Given the description of an element on the screen output the (x, y) to click on. 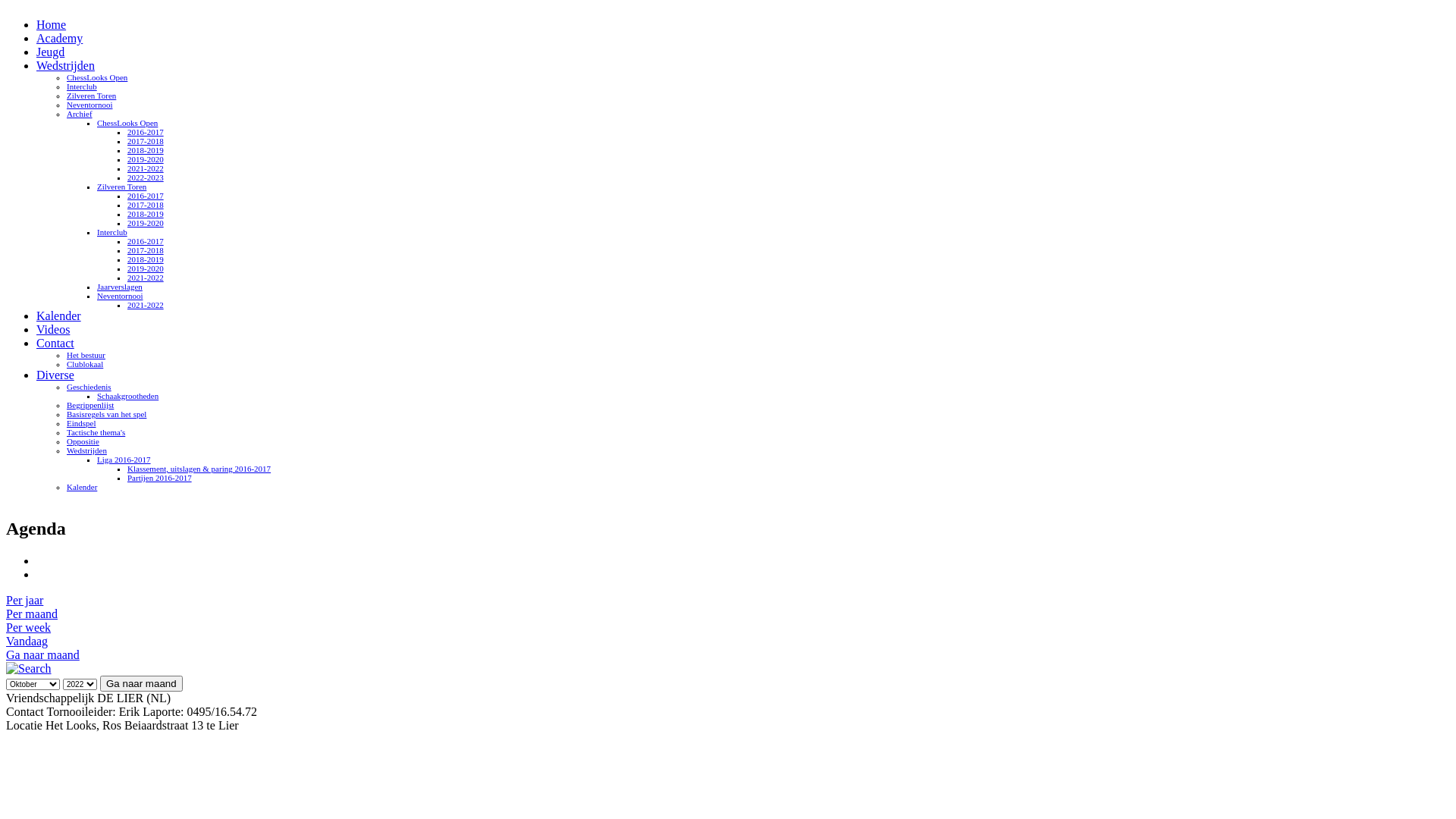
2018-2019 Element type: text (145, 213)
Partijen 2016-2017 Element type: text (159, 477)
2021-2022 Element type: text (145, 304)
Begrippenlijst Element type: text (89, 404)
Jaarverslagen Element type: text (119, 286)
Neventornooi Element type: text (119, 295)
2018-2019 Element type: text (145, 149)
Clublokaal Element type: text (84, 363)
2016-2017 Element type: text (145, 240)
Basisregels van het spel Element type: text (106, 413)
Videos Element type: text (52, 329)
Zilveren Toren Element type: text (91, 95)
Liga 2016-2017 Element type: text (123, 459)
Ga naar maand Element type: text (141, 683)
Diverse Element type: text (55, 374)
2018-2019 Element type: text (145, 258)
2017-2018 Element type: text (145, 204)
2019-2020 Element type: text (145, 222)
Interclub Element type: text (112, 231)
2017-2018 Element type: text (145, 140)
Geschiedenis Element type: text (88, 386)
Kalender Element type: text (58, 315)
Contact Element type: text (55, 342)
Neventornooi Element type: text (89, 104)
2021-2022 Element type: text (145, 277)
Wedstrijden Element type: text (86, 450)
Wedstrijden Element type: text (65, 65)
Home Element type: text (50, 24)
2016-2017 Element type: text (145, 195)
Schaakgrootheden Element type: text (127, 395)
Per week Element type: text (28, 627)
2022-2023 Element type: text (145, 177)
Archief Element type: text (79, 113)
ChessLooks Open Element type: text (127, 122)
Oppositie Element type: text (82, 440)
2021-2022 Element type: text (145, 167)
2019-2020 Element type: text (145, 158)
2017-2018 Element type: text (145, 249)
Eindspel Element type: text (81, 422)
2019-2020 Element type: text (145, 268)
Jeugd Element type: text (50, 51)
Vandaag Element type: text (26, 640)
Zoeken Element type: hover (28, 668)
Ga naar maand Element type: text (42, 654)
2016-2017 Element type: text (145, 131)
Interclub Element type: text (81, 86)
Klassement, uitslagen & paring 2016-2017 Element type: text (198, 468)
Academy Element type: text (59, 37)
Per jaar Element type: text (24, 599)
Tactische thema's Element type: text (95, 431)
Het bestuur Element type: text (85, 354)
Per maand Element type: text (31, 613)
Kalender Element type: text (81, 486)
ChessLooks Open Element type: text (96, 76)
Zilveren Toren Element type: text (121, 186)
